Given the description of an element on the screen output the (x, y) to click on. 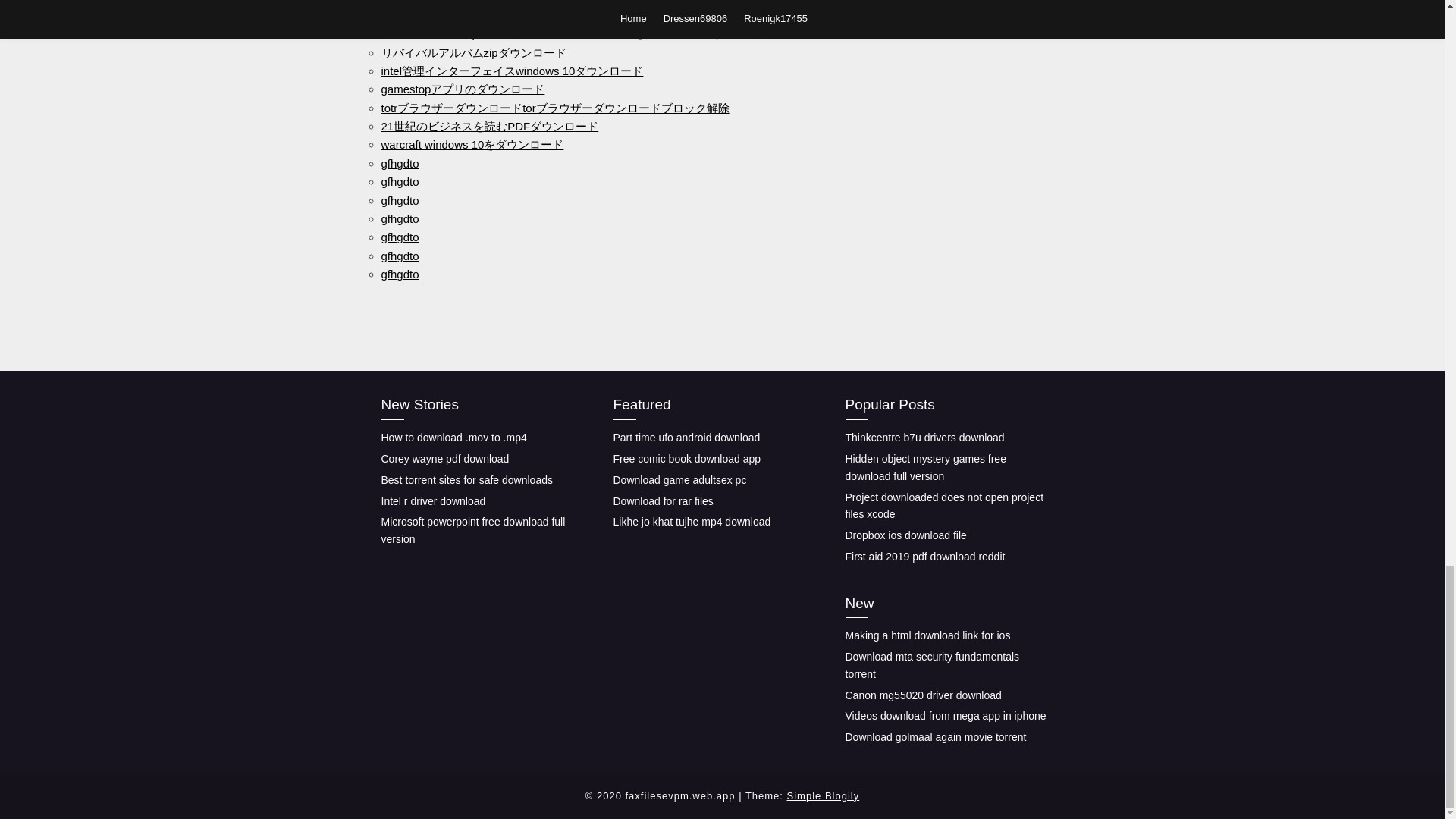
Part time ufo android download (686, 437)
Hidden object mystery games free download full version (925, 467)
gfhgdto (399, 273)
gfhgdto (399, 163)
Download game adultsex pc (678, 480)
Thinkcentre b7u drivers download (924, 437)
Dropbox ios download file (905, 535)
gfhgdto (399, 181)
gfhgdto (399, 218)
Corey wayne pdf download (444, 458)
